Given the description of an element on the screen output the (x, y) to click on. 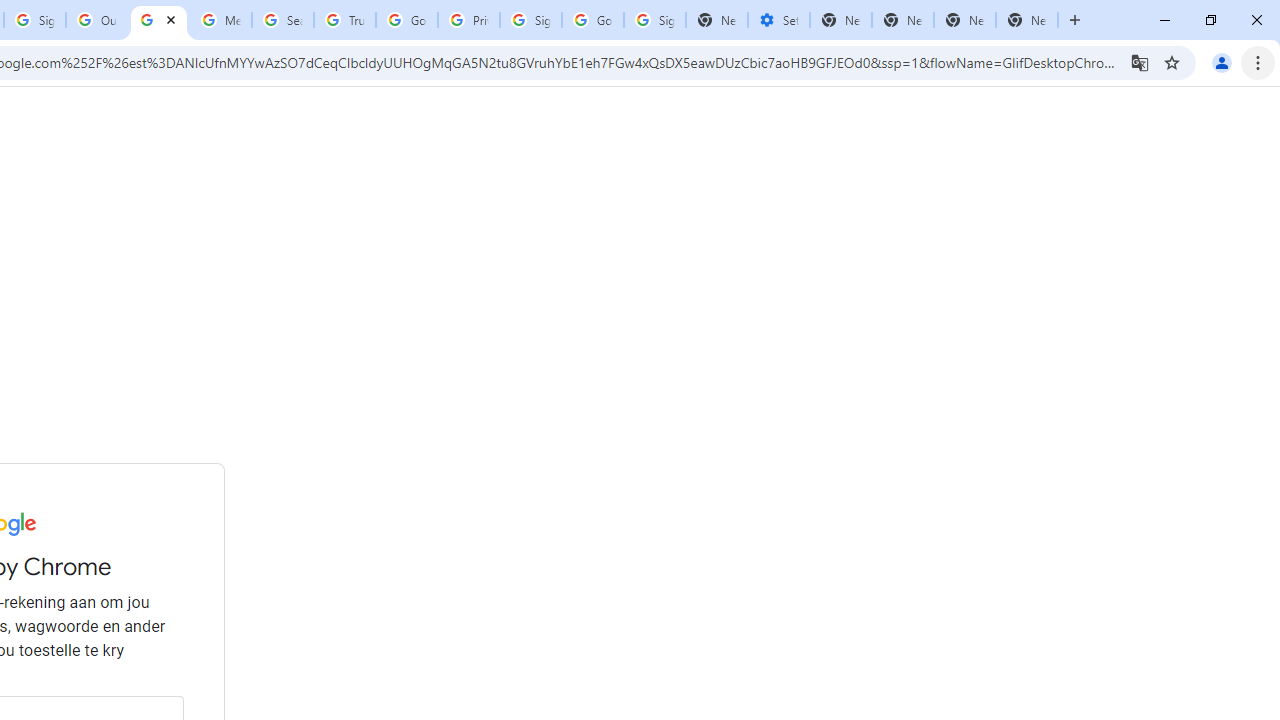
New Tab (1026, 20)
Search our Doodle Library Collection - Google Doodles (282, 20)
Google Ads - Sign in (406, 20)
Settings - Performance (778, 20)
Trusted Information and Content - Google Safety Center (344, 20)
New Tab (840, 20)
